Given the description of an element on the screen output the (x, y) to click on. 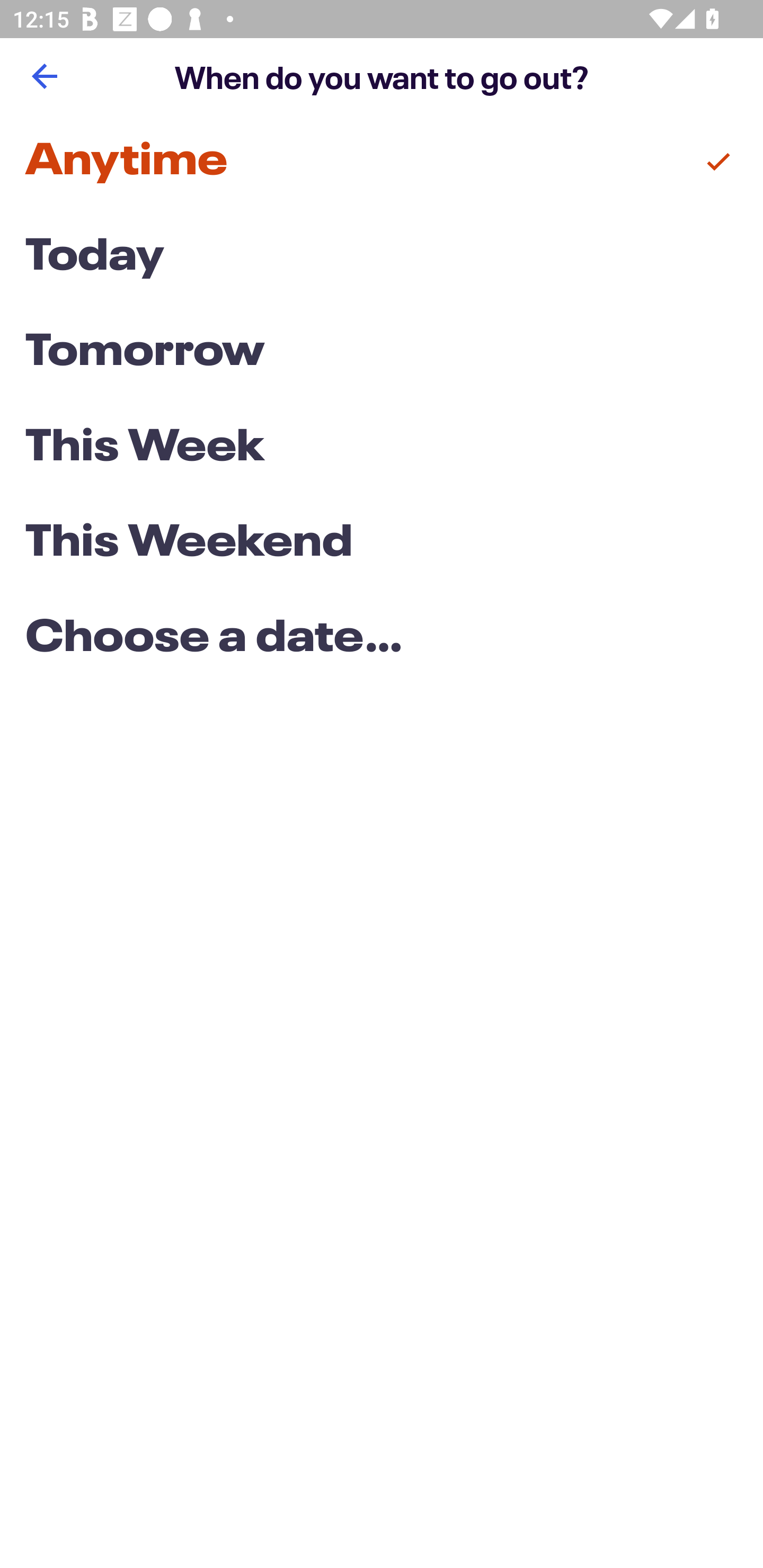
Back button (44, 75)
Anytime (381, 161)
Today (381, 257)
Tomorrow (381, 352)
This Week (381, 447)
This Weekend (381, 542)
Choose a date… (381, 638)
